Given the description of an element on the screen output the (x, y) to click on. 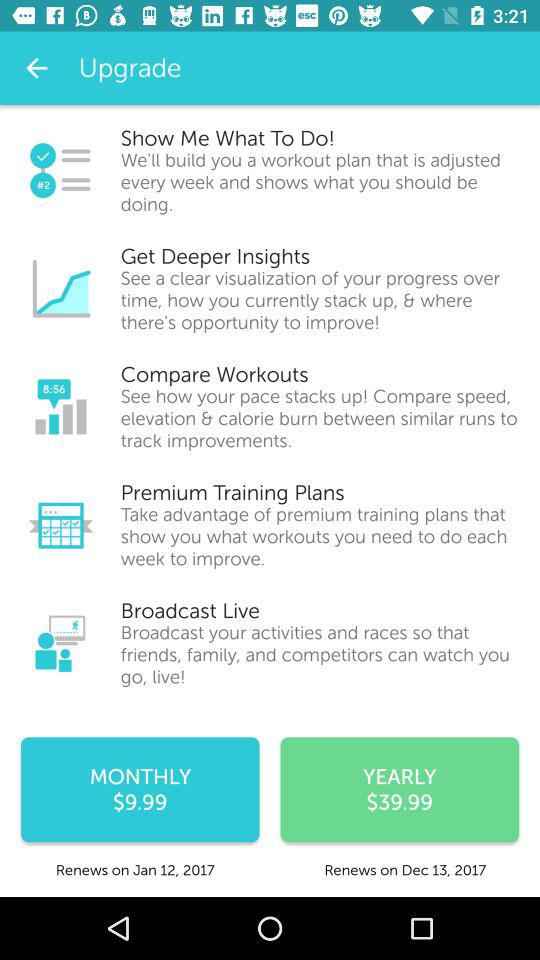
turn off the item next to the yearly
$39.99 (140, 789)
